Given the description of an element on the screen output the (x, y) to click on. 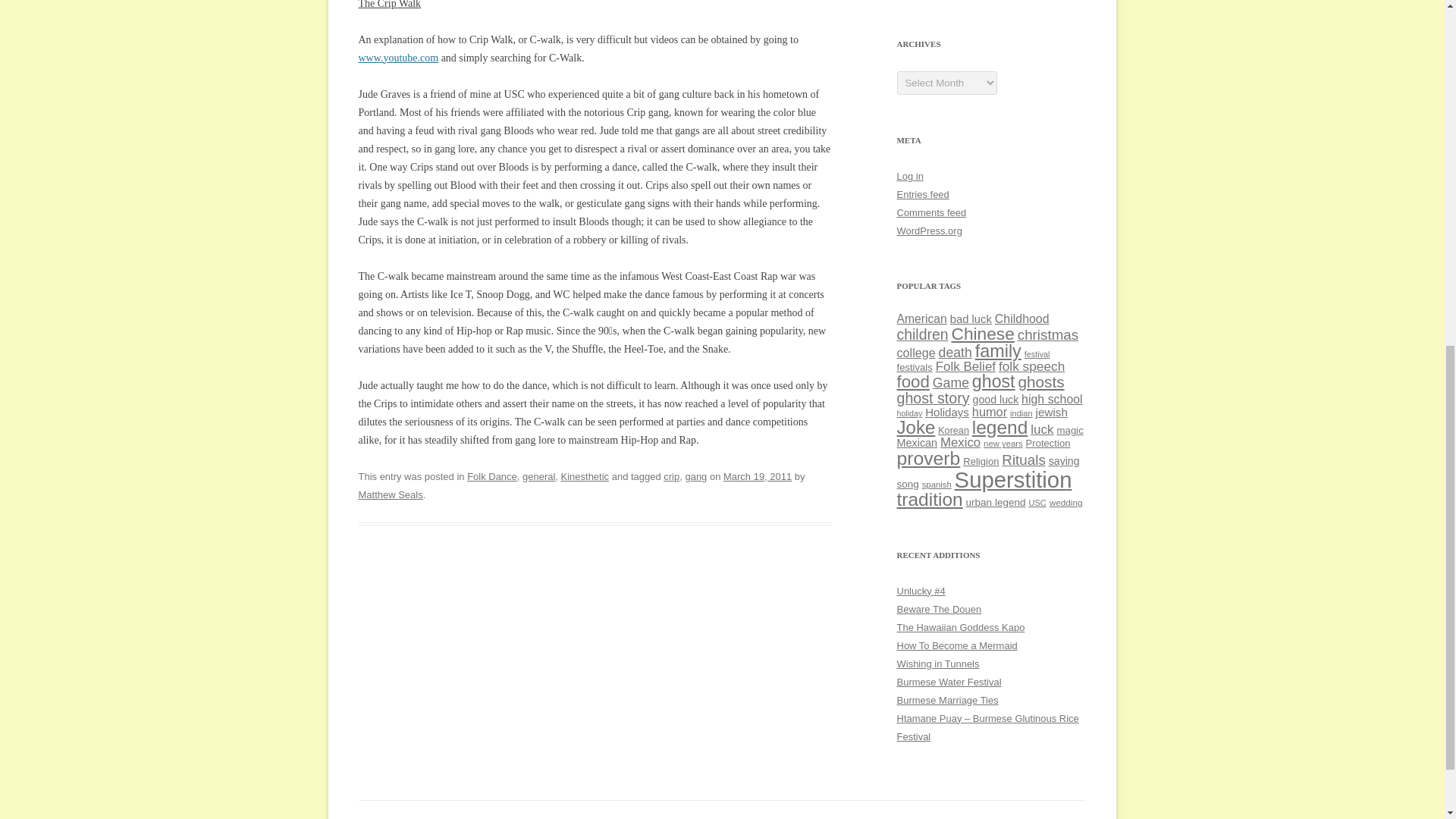
6:30 am (757, 476)
Matthew Seals (390, 494)
Folk Belief (965, 366)
family (998, 351)
college (915, 352)
ghost story (932, 397)
christmas (1047, 334)
gang (695, 476)
good luck (995, 399)
American (921, 318)
